Given the description of an element on the screen output the (x, y) to click on. 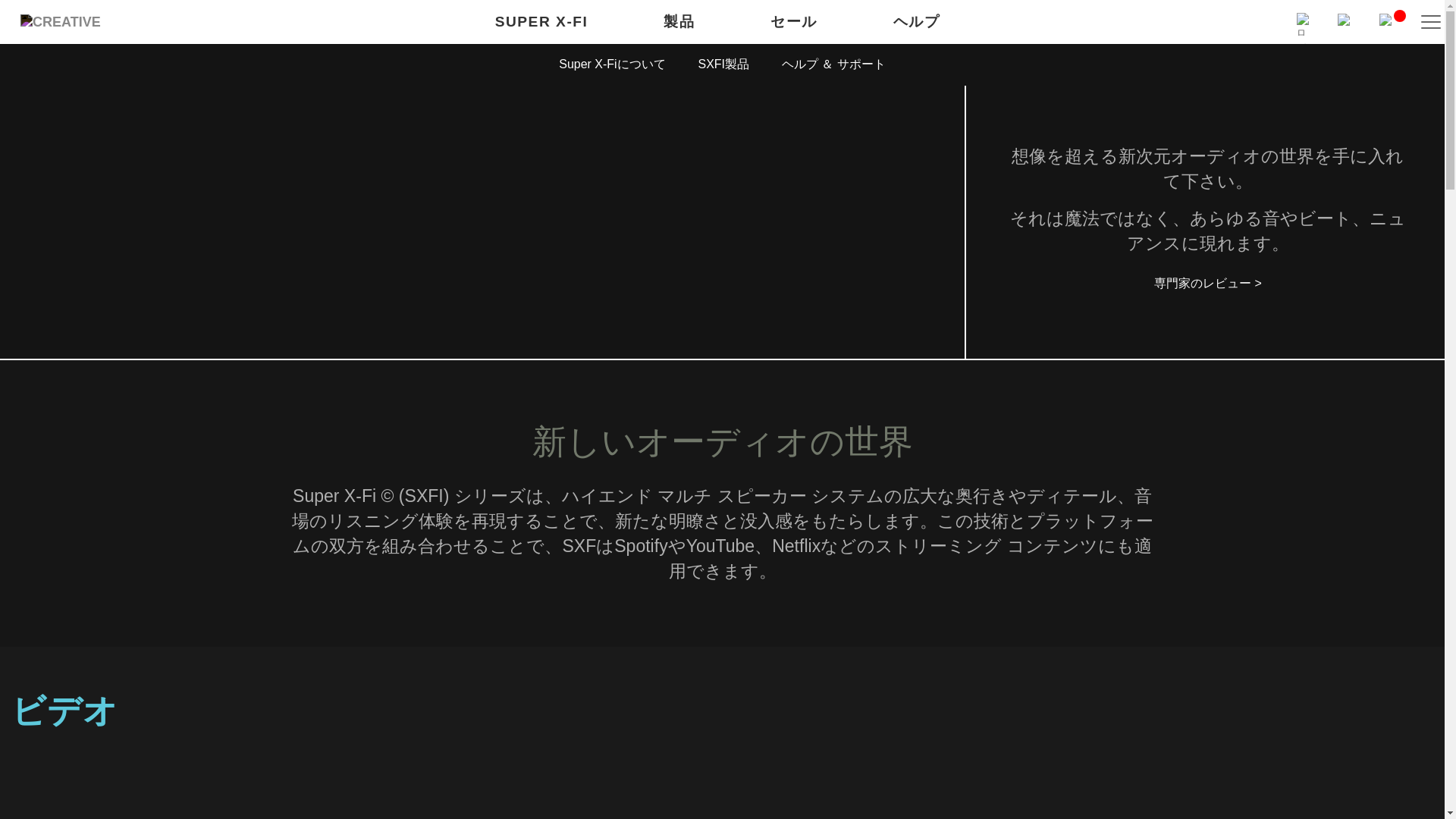
SUPER X-FI (542, 22)
